Given the description of an element on the screen output the (x, y) to click on. 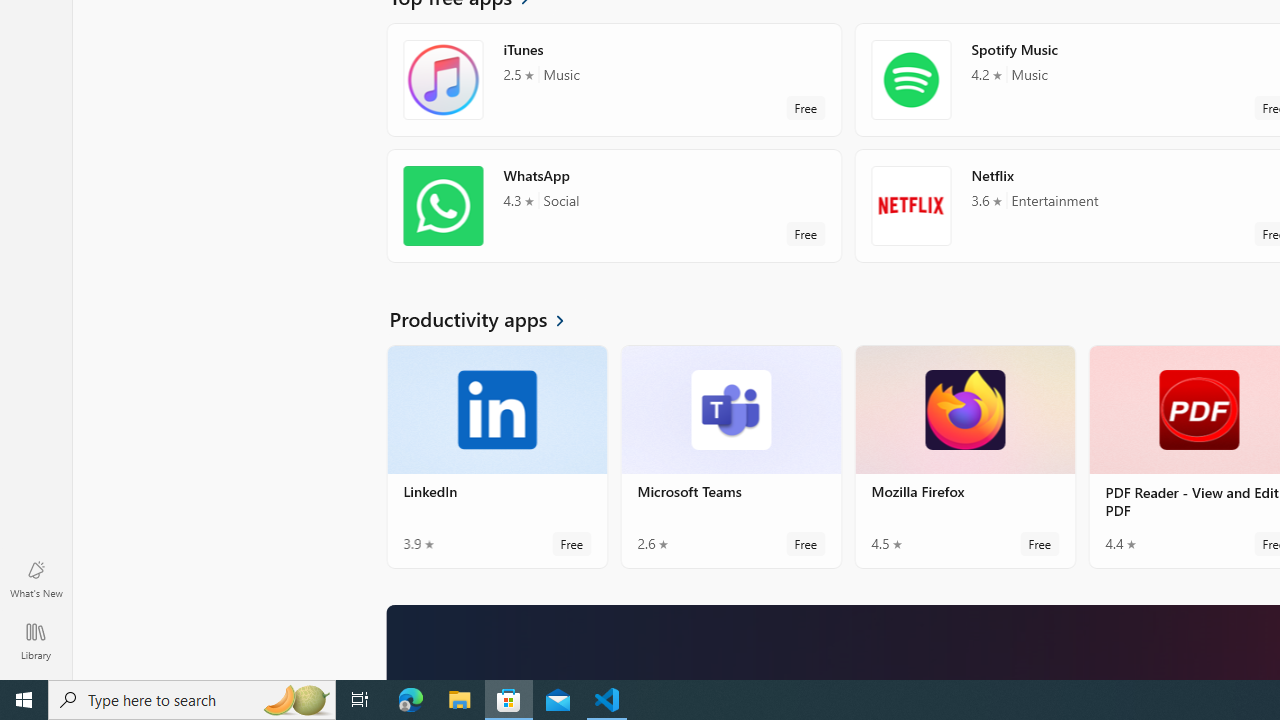
LinkedIn. Average rating of 3.9 out of five stars. Free   (497, 456)
See all  Productivity apps (488, 318)
iTunes. Average rating of 2.5 out of five stars. Free   (614, 79)
What's New (35, 578)
WhatsApp. Average rating of 4.3 out of five stars. Free   (614, 205)
Library (35, 640)
